Given the description of an element on the screen output the (x, y) to click on. 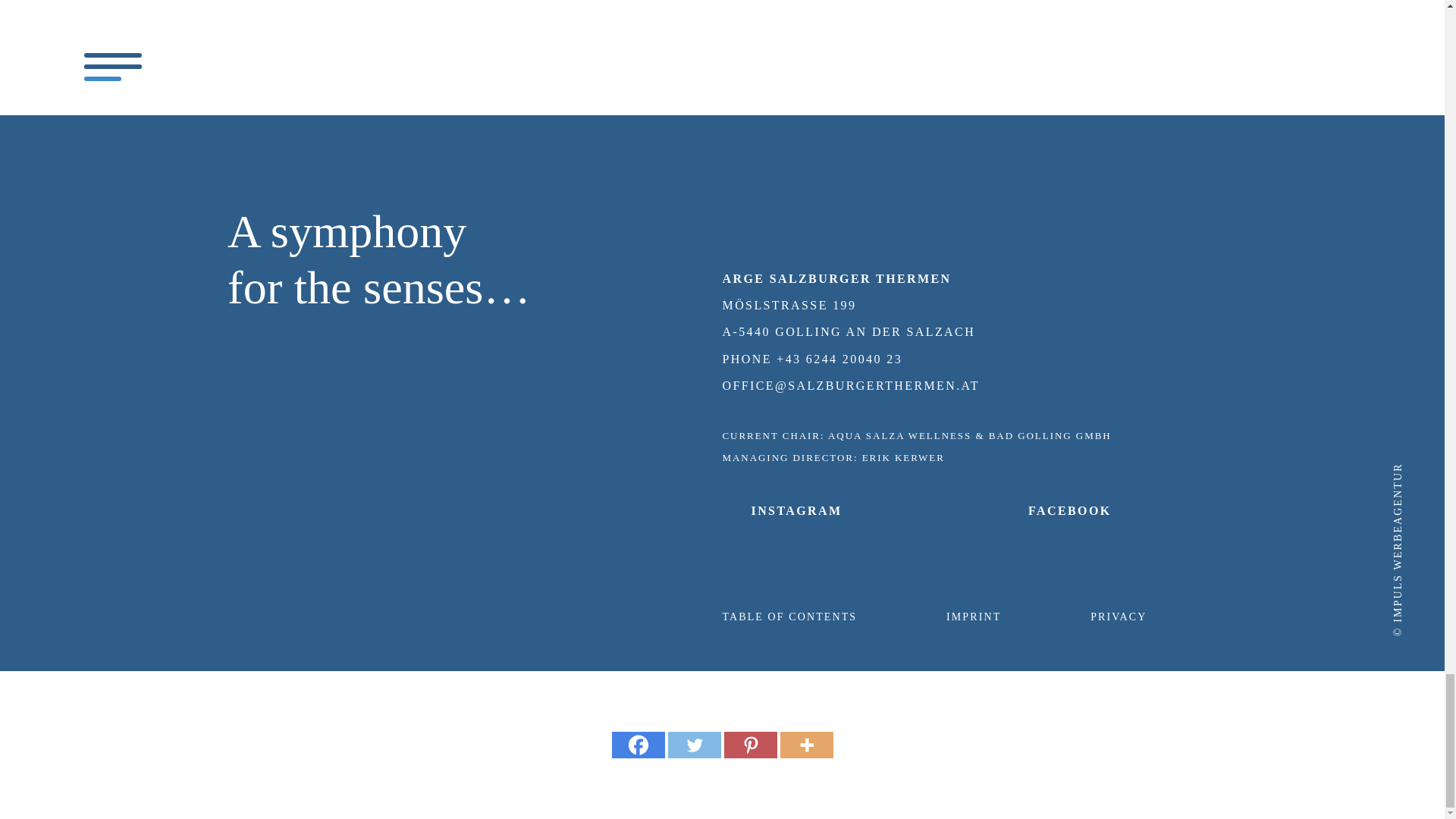
IMPRINT (973, 616)
Twitter (693, 745)
PRIVACY (1118, 616)
Pinterest (749, 745)
Facebook (637, 745)
TABLE OF CONTENTS (789, 616)
More (805, 745)
